Given the description of an element on the screen output the (x, y) to click on. 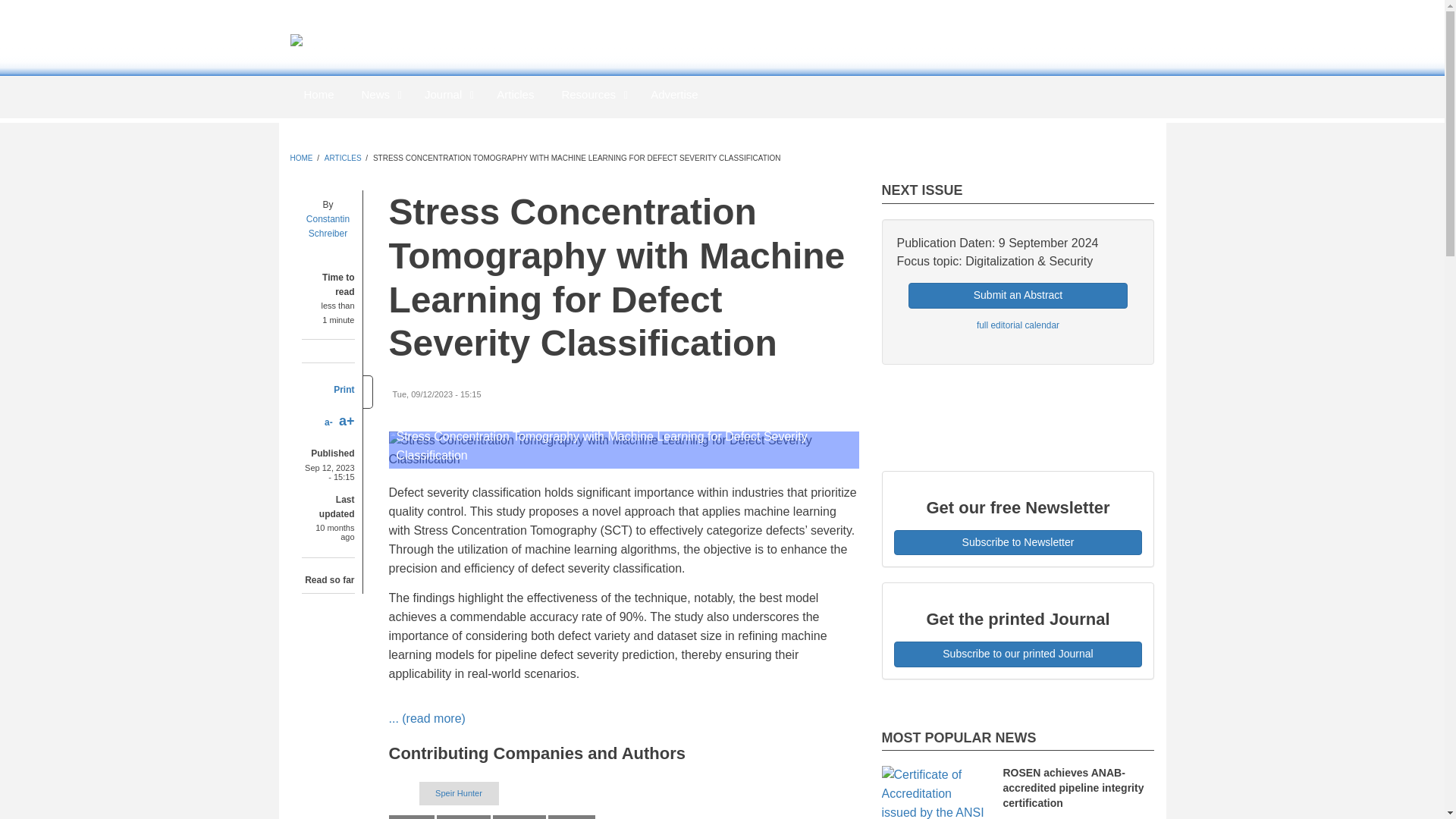
Resources (592, 94)
twitter (949, 94)
RSS Feed (997, 94)
Tuesday, September 12, 2023 - 15:15 (437, 393)
Advertise (674, 94)
Print (343, 389)
Articles (515, 94)
Constantin Schreiber (327, 226)
Home (318, 94)
Journal (446, 94)
HOME (301, 157)
linkedin (899, 94)
View user profile. (327, 226)
Home (311, 42)
